Given the description of an element on the screen output the (x, y) to click on. 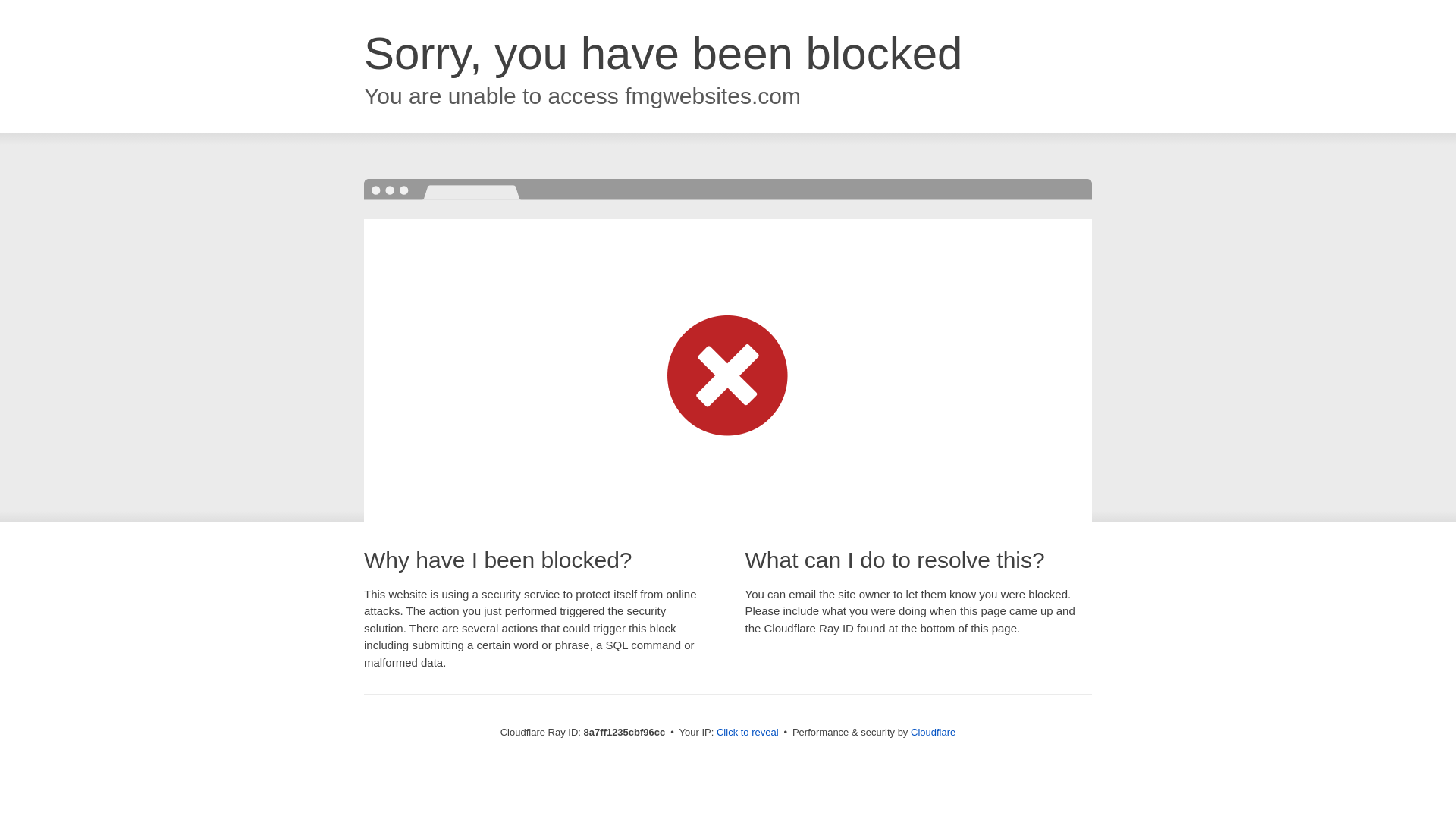
Cloudflare (933, 731)
Click to reveal (747, 732)
